Given the description of an element on the screen output the (x, y) to click on. 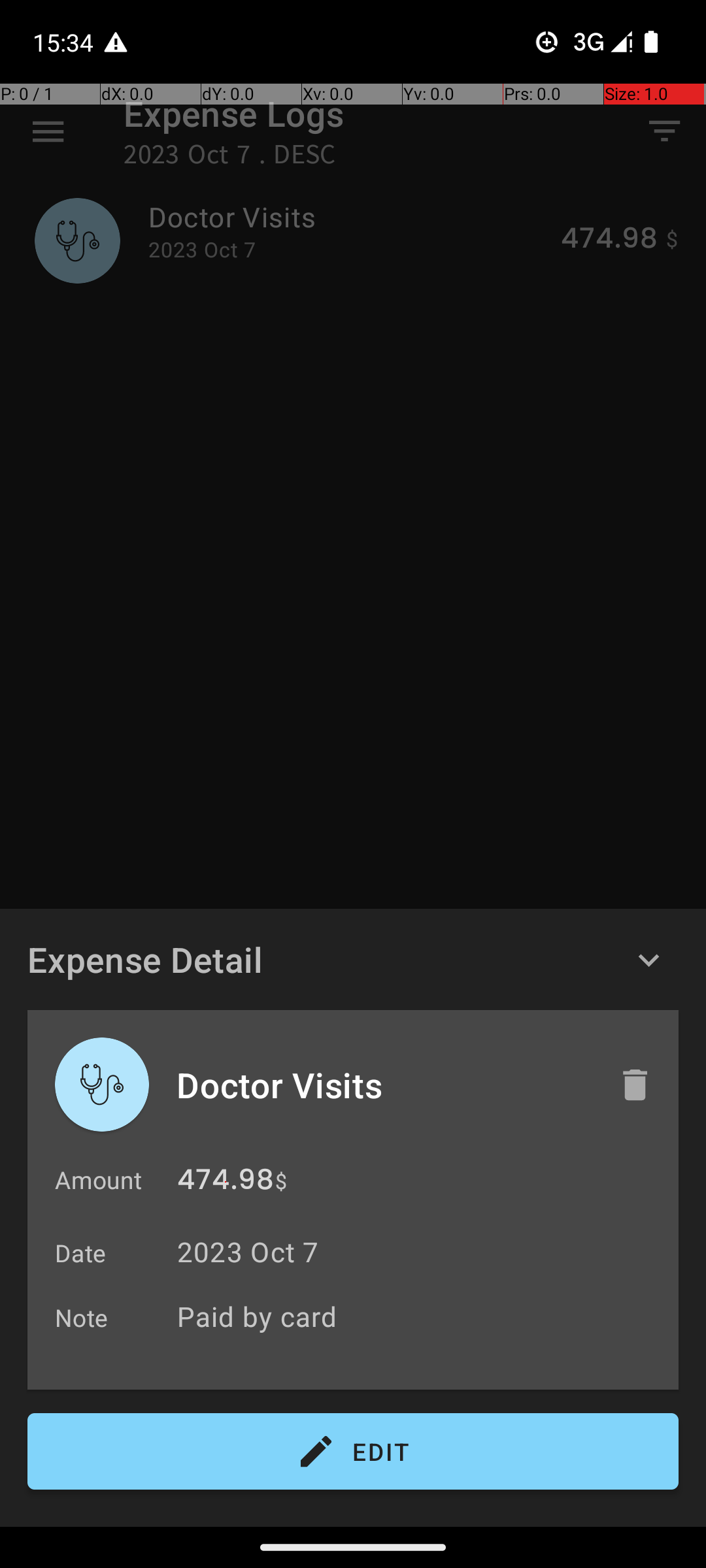
Doctor Visits Element type: android.widget.TextView (383, 1084)
474.98 Element type: android.widget.TextView (225, 1182)
$ Element type: android.widget.TextView (280, 1180)
2023 Oct 7 Element type: android.widget.TextView (247, 1251)
Paid by card Element type: android.widget.TextView (420, 1315)
